Given the description of an element on the screen output the (x, y) to click on. 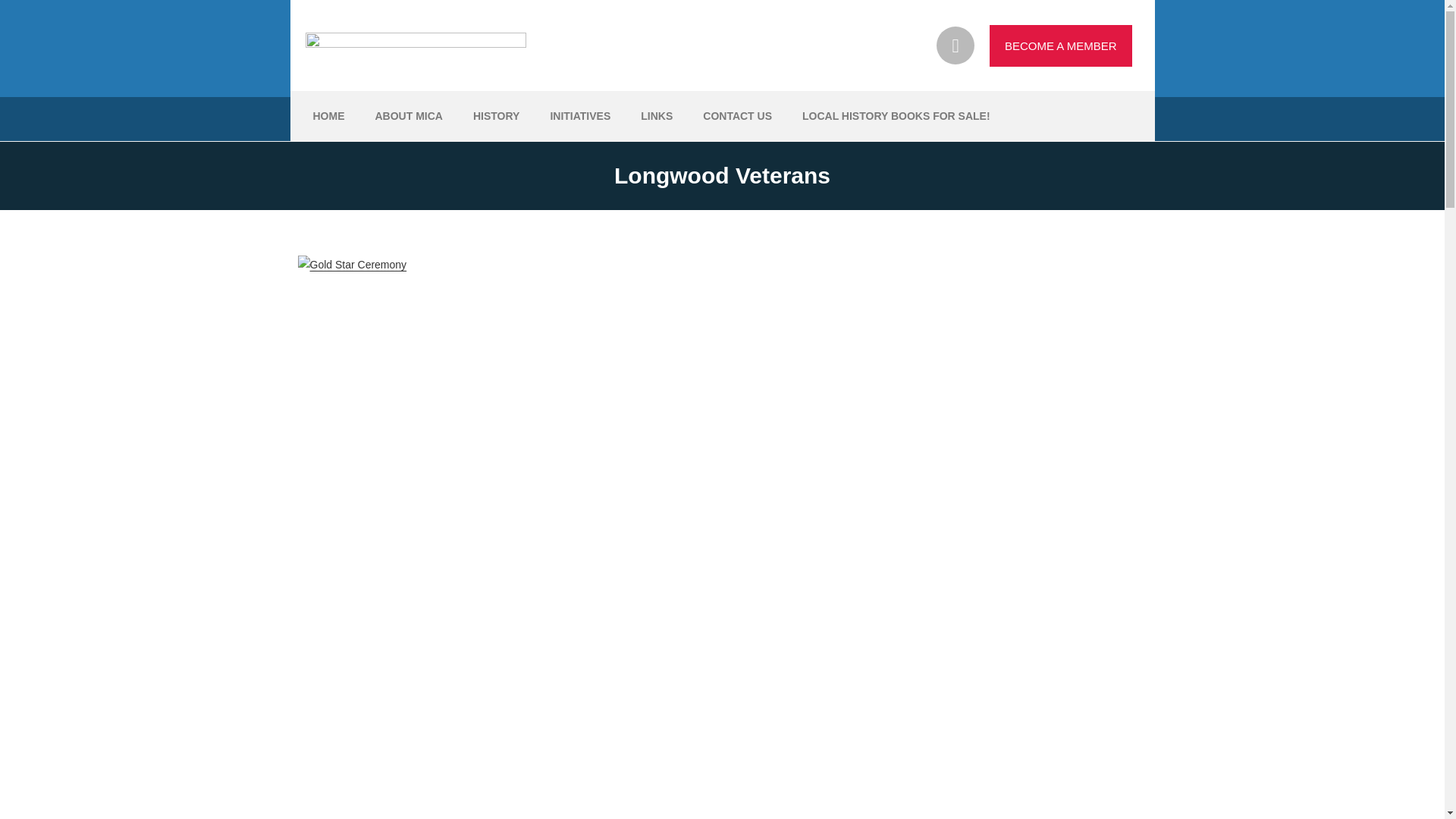
BECOME A MEMBER (1061, 45)
ABOUT MICA (408, 115)
HISTORY (496, 115)
INITIATIVES (580, 115)
HOME (328, 115)
